Given the description of an element on the screen output the (x, y) to click on. 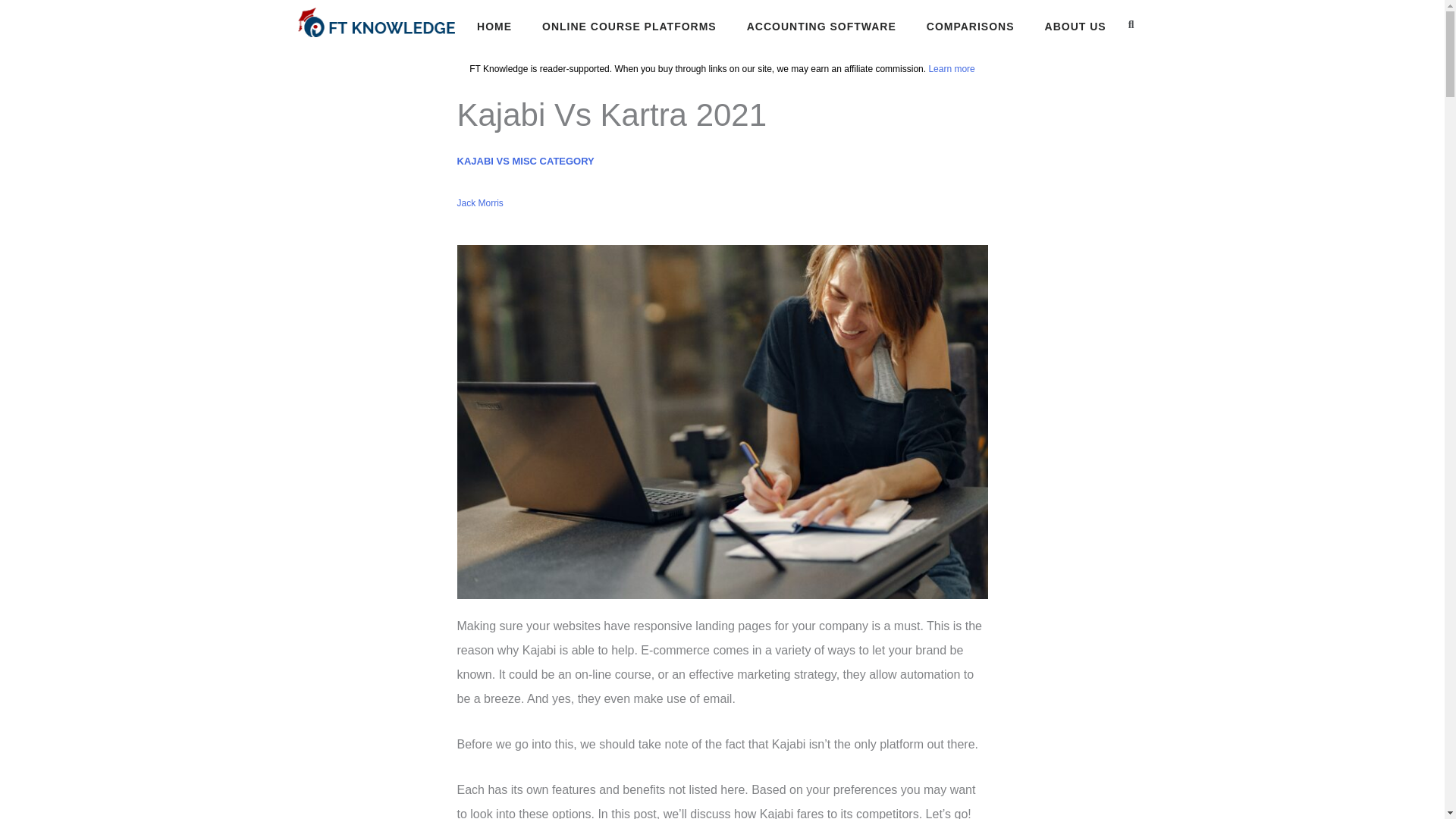
KAJABI VS MISC CATEGORY (525, 161)
Learn more (951, 68)
ABOUT US (1075, 26)
ONLINE COURSE PLATFORMS (628, 26)
COMPARISONS (970, 26)
Jack Morris (479, 202)
ACCOUNTING SOFTWARE (821, 26)
HOME (494, 26)
